Given the description of an element on the screen output the (x, y) to click on. 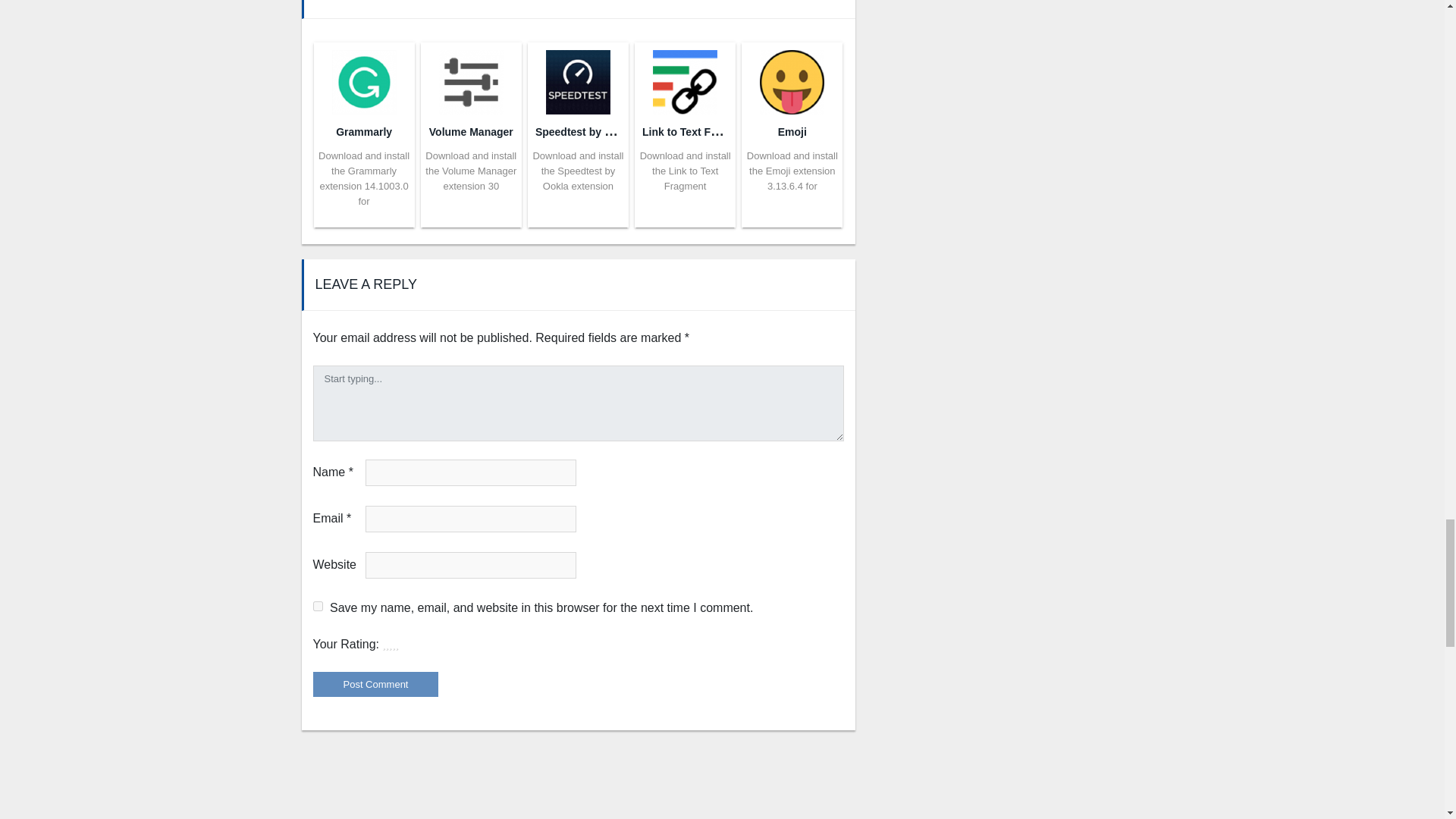
Post Comment (375, 684)
Grammarly (363, 132)
Download and install the Grammarly extension 14.1003.0 for (363, 178)
yes (317, 605)
